Given the description of an element on the screen output the (x, y) to click on. 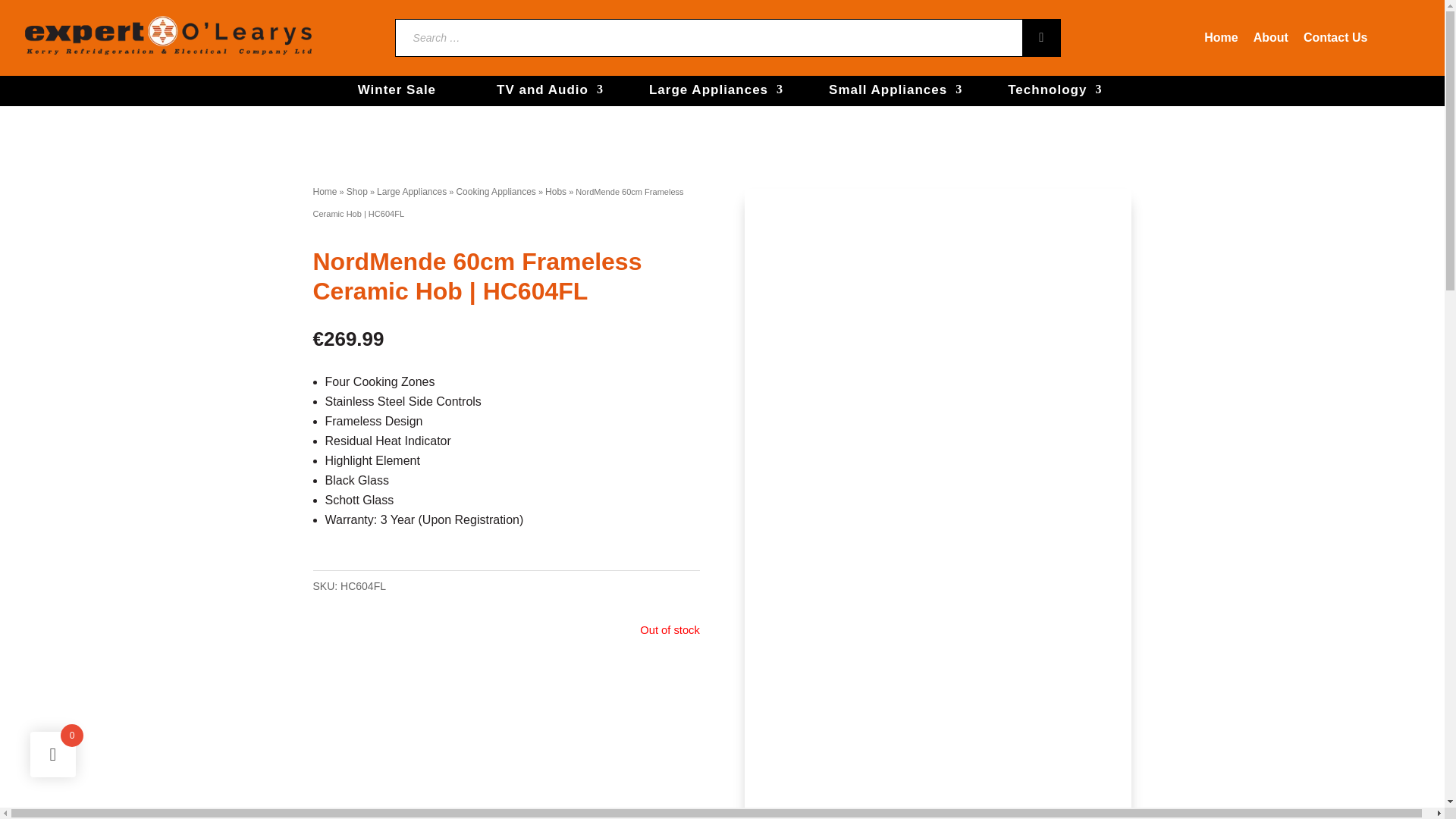
TV and Audio (542, 91)
About (1270, 37)
expert-logo-3 (170, 37)
Winter Sale (396, 91)
Large Appliances (708, 91)
Home (1220, 37)
Contact Us (1335, 37)
